Given the description of an element on the screen output the (x, y) to click on. 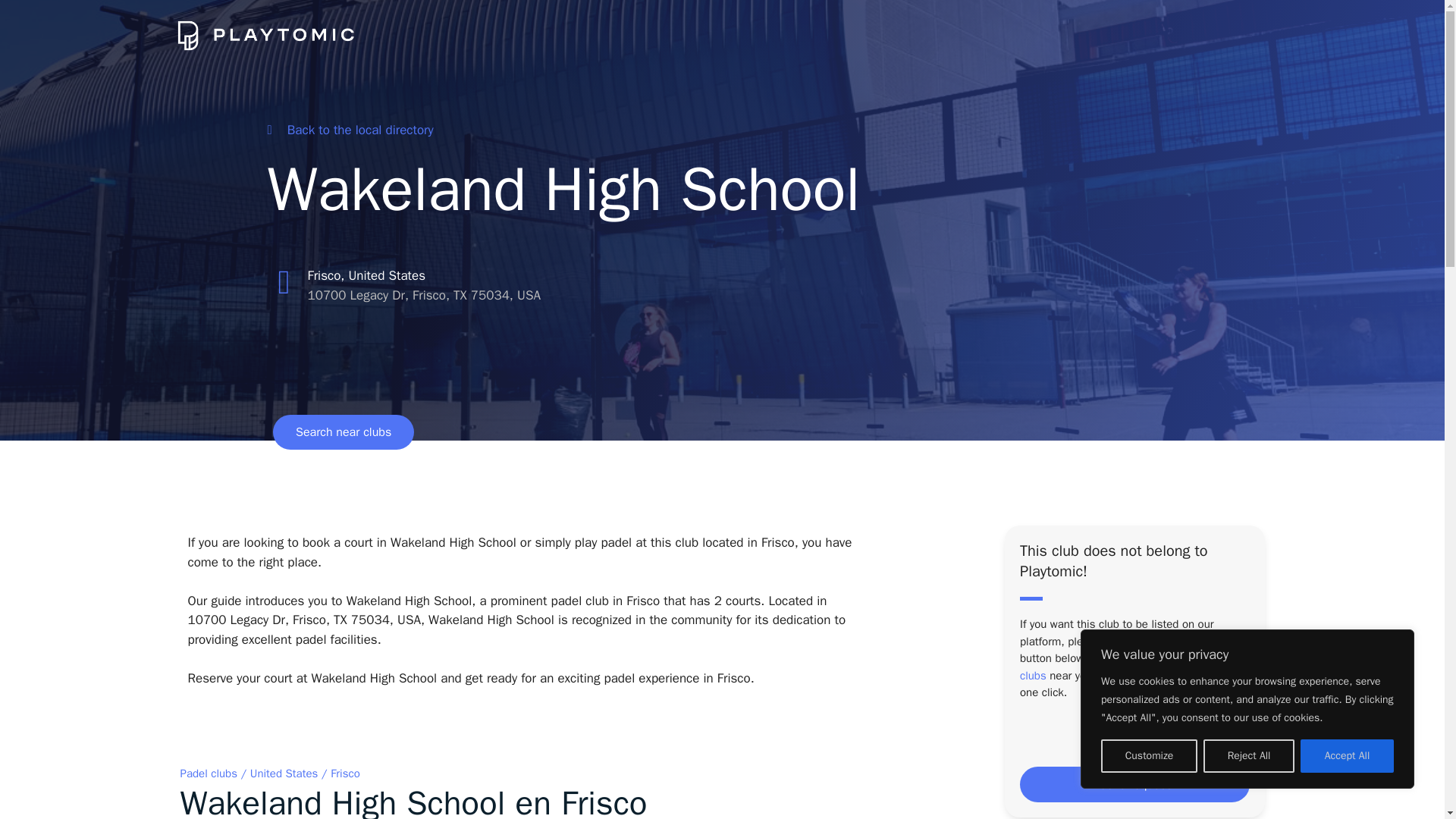
Search near clubs (343, 431)
Reject All (1249, 756)
Customize (1148, 756)
Frisco (344, 773)
search for other clubs (1128, 666)
United States (284, 773)
Padel clubs (208, 773)
Send request (1134, 784)
Accept All (1346, 756)
Back to the local directory (349, 130)
